Given the description of an element on the screen output the (x, y) to click on. 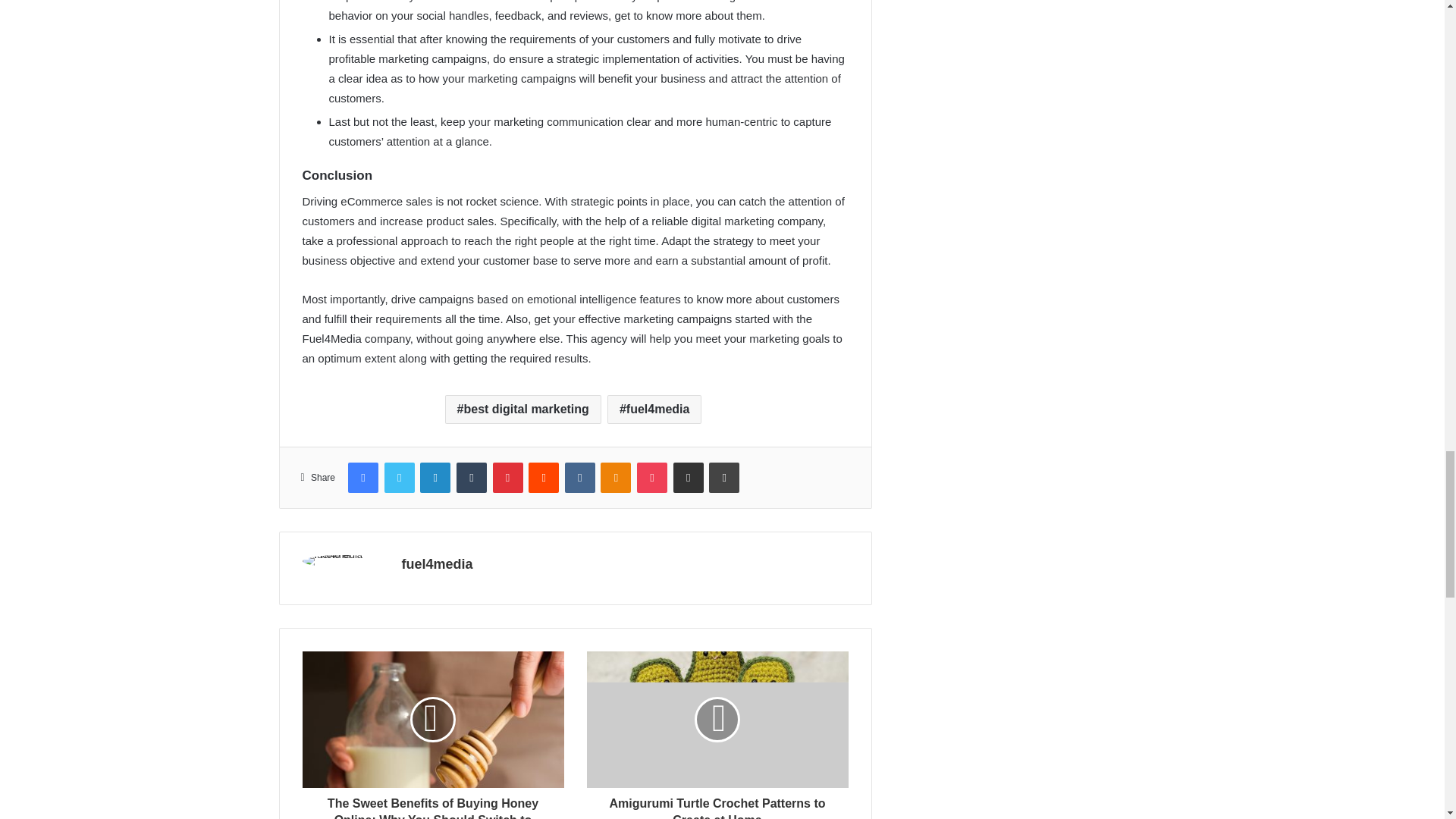
best digital marketing (523, 409)
Pinterest (507, 477)
Reddit (543, 477)
Twitter (399, 477)
Pocket (651, 477)
LinkedIn (434, 477)
VKontakte (579, 477)
Tumblr (471, 477)
Tumblr (471, 477)
Odnoklassniki (614, 477)
